Given the description of an element on the screen output the (x, y) to click on. 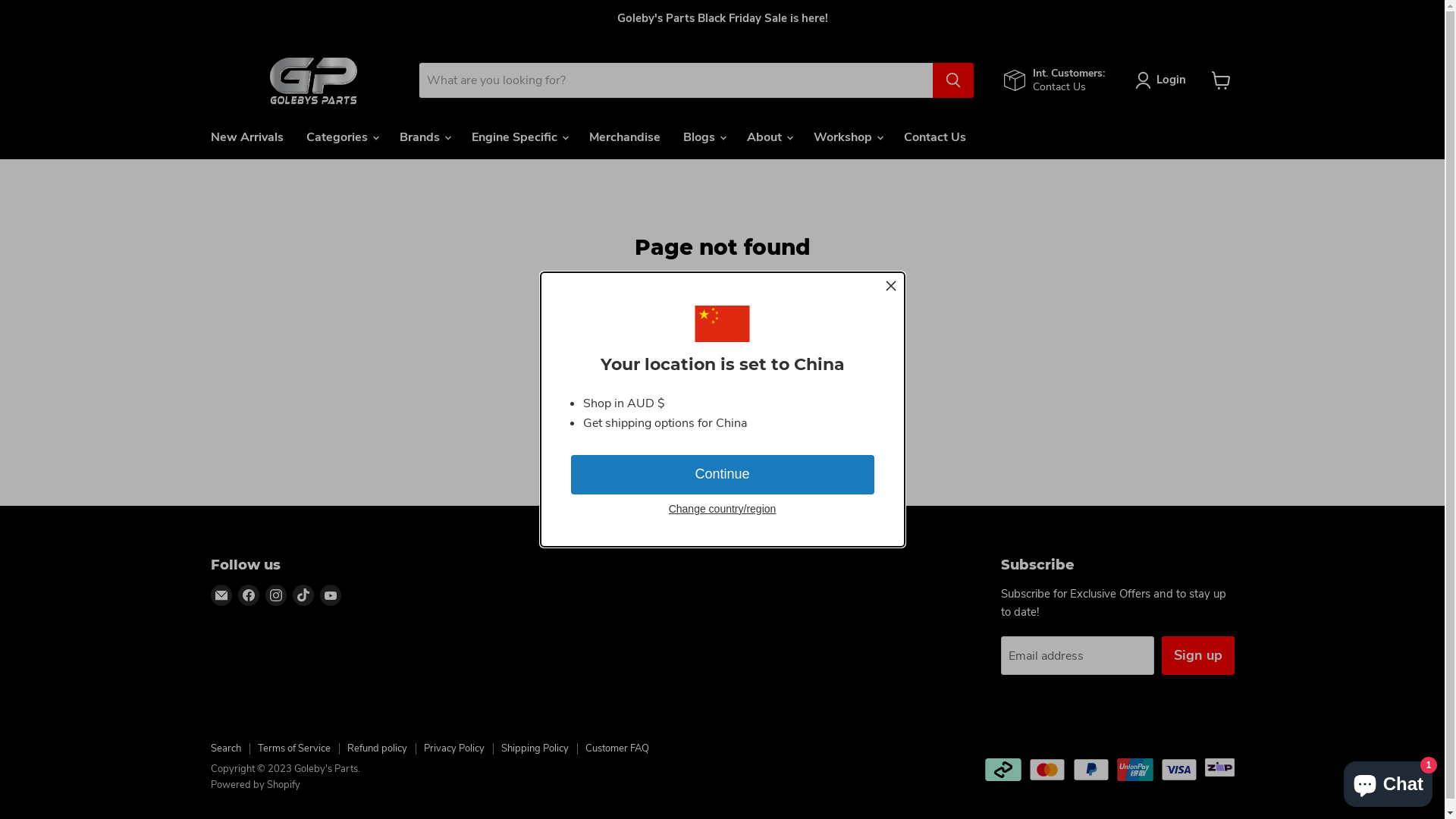
Email Goleby's Parts Element type: text (221, 594)
Find us on YouTube Element type: text (330, 594)
Continue Shopping Element type: text (721, 328)
Terms of Service Element type: text (293, 748)
Find us on Facebook Element type: text (248, 594)
Refund policy Element type: text (377, 748)
Contact Us Element type: text (933, 137)
Merchandise Element type: text (624, 137)
Find us on TikTok Element type: text (302, 594)
Int. Customers:
Contact Us Element type: text (1054, 80)
Shipping Policy Element type: text (533, 748)
Sign up Element type: text (1197, 655)
Login Element type: text (1163, 80)
Customer FAQ Element type: text (617, 748)
Privacy Policy Element type: text (453, 748)
Search Element type: text (225, 748)
Powered by Shopify Element type: text (255, 784)
View cart Element type: text (1221, 80)
Find us on Instagram Element type: text (275, 594)
Shopify online store chat Element type: hover (1388, 780)
New Arrivals Element type: text (246, 137)
